Given the description of an element on the screen output the (x, y) to click on. 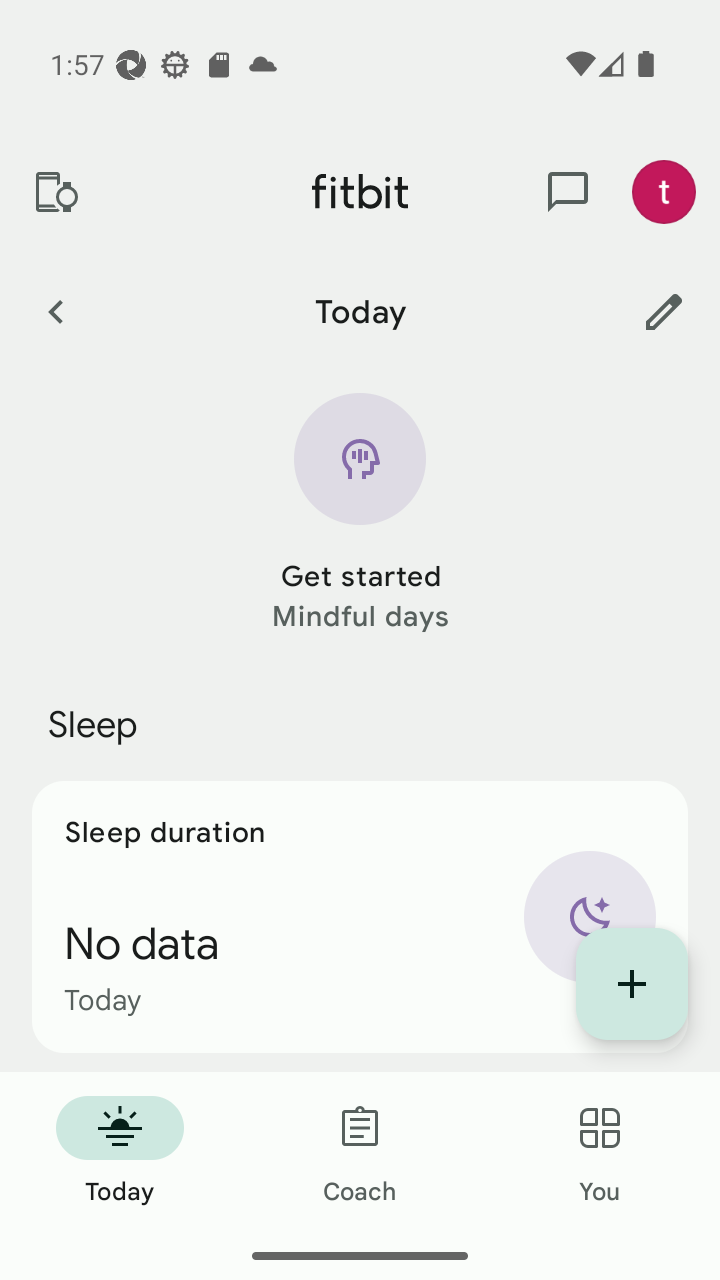
Devices and apps (55, 191)
messages and notifications (567, 191)
Previous Day (55, 311)
Customize (664, 311)
Mindfulness icon Get started Mindful days (360, 514)
Sleep duration No data Today Sleep static arc (359, 916)
Display list of quick log entries (632, 983)
Coach (359, 1151)
You (600, 1151)
